Given the description of an element on the screen output the (x, y) to click on. 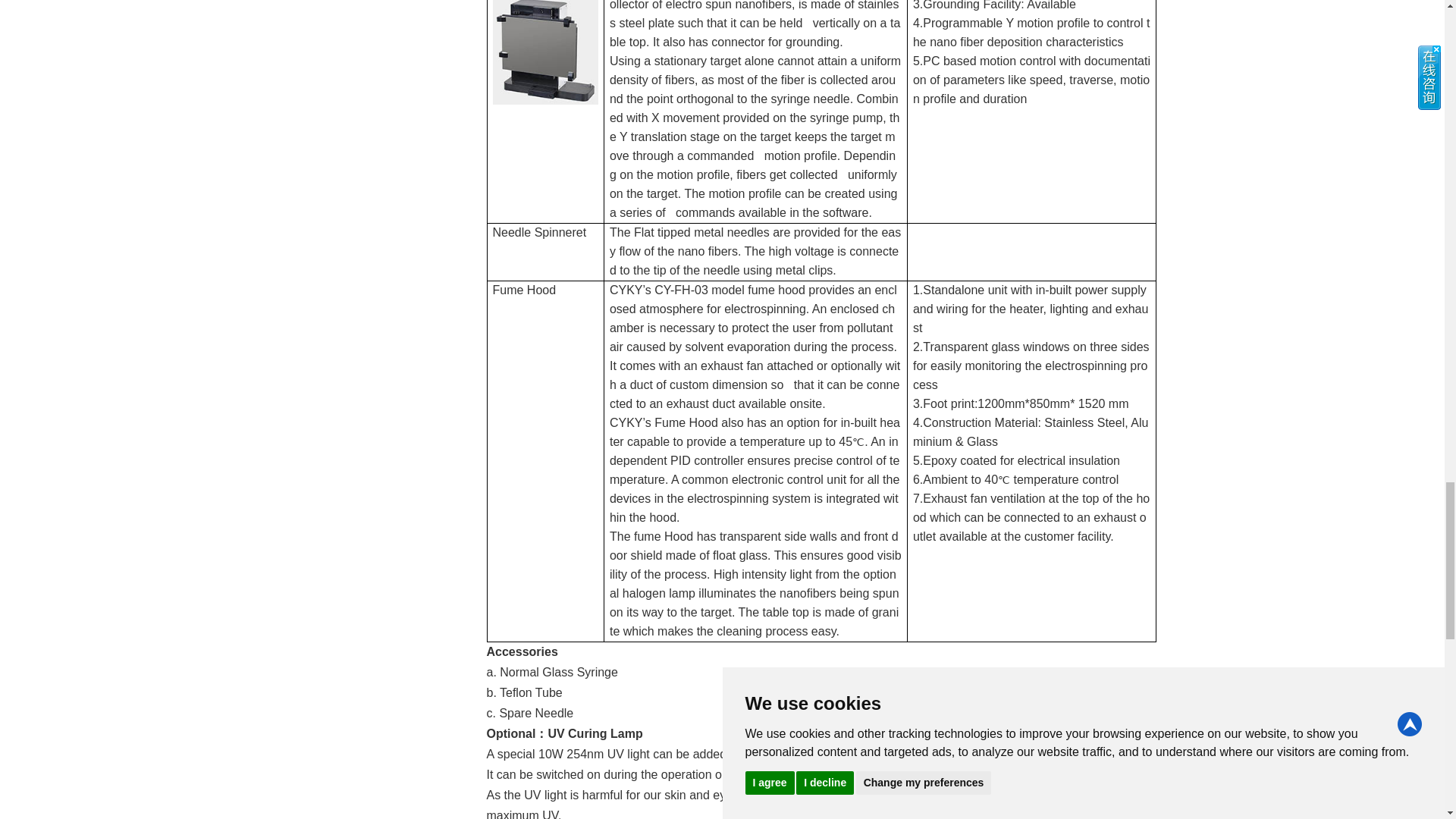
image.png (545, 52)
